Given the description of an element on the screen output the (x, y) to click on. 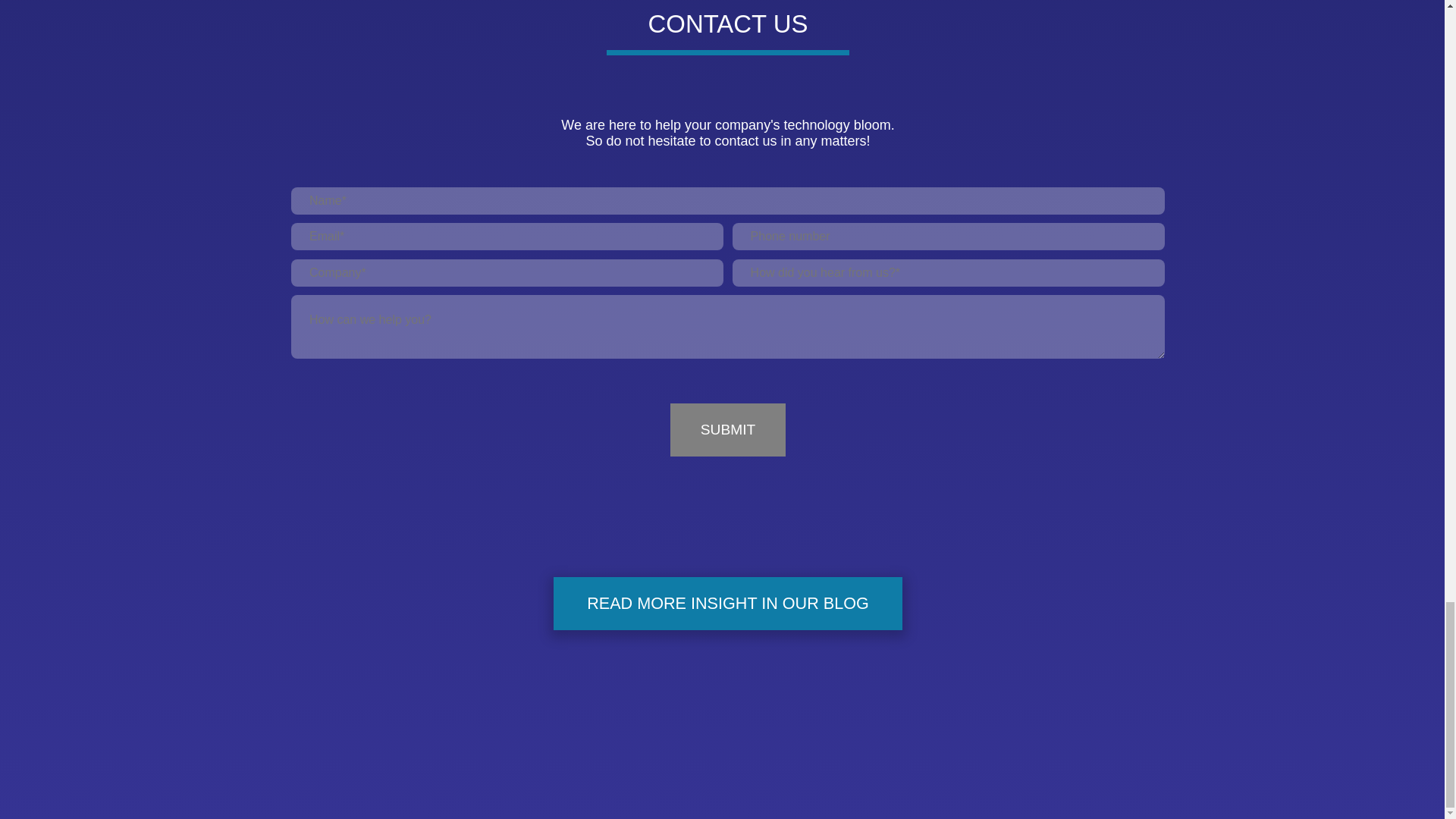
READ MORE INSIGHT IN OUR BLOG (727, 603)
SUBMIT (727, 429)
